Given the description of an element on the screen output the (x, y) to click on. 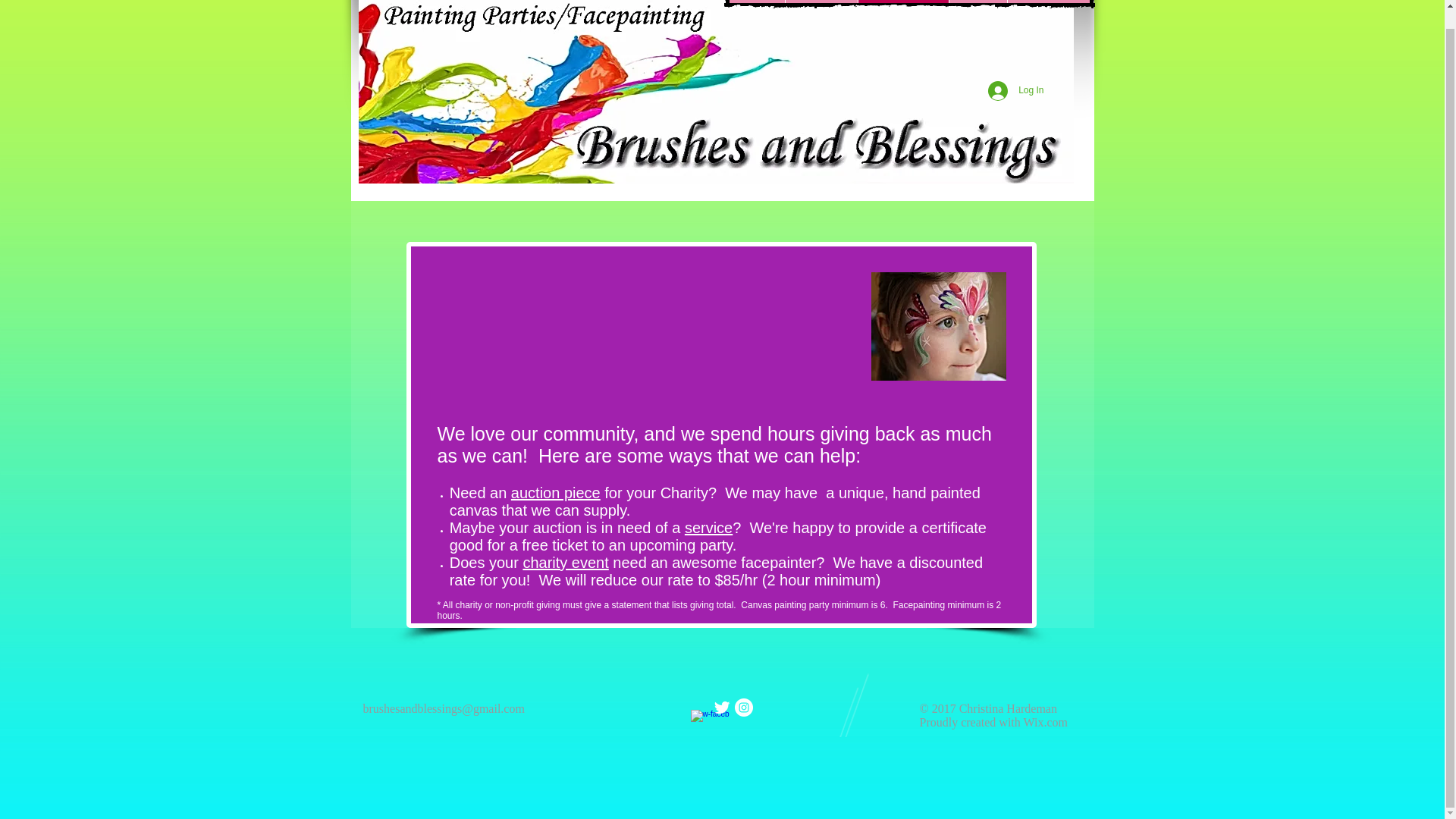
About (976, 1)
04-3-17-5711.jpg (938, 325)
Log In (1015, 90)
Home (756, 1)
Giving Back (902, 1)
Groups List (1048, 1)
Wix.com (1045, 721)
